Given the description of an element on the screen output the (x, y) to click on. 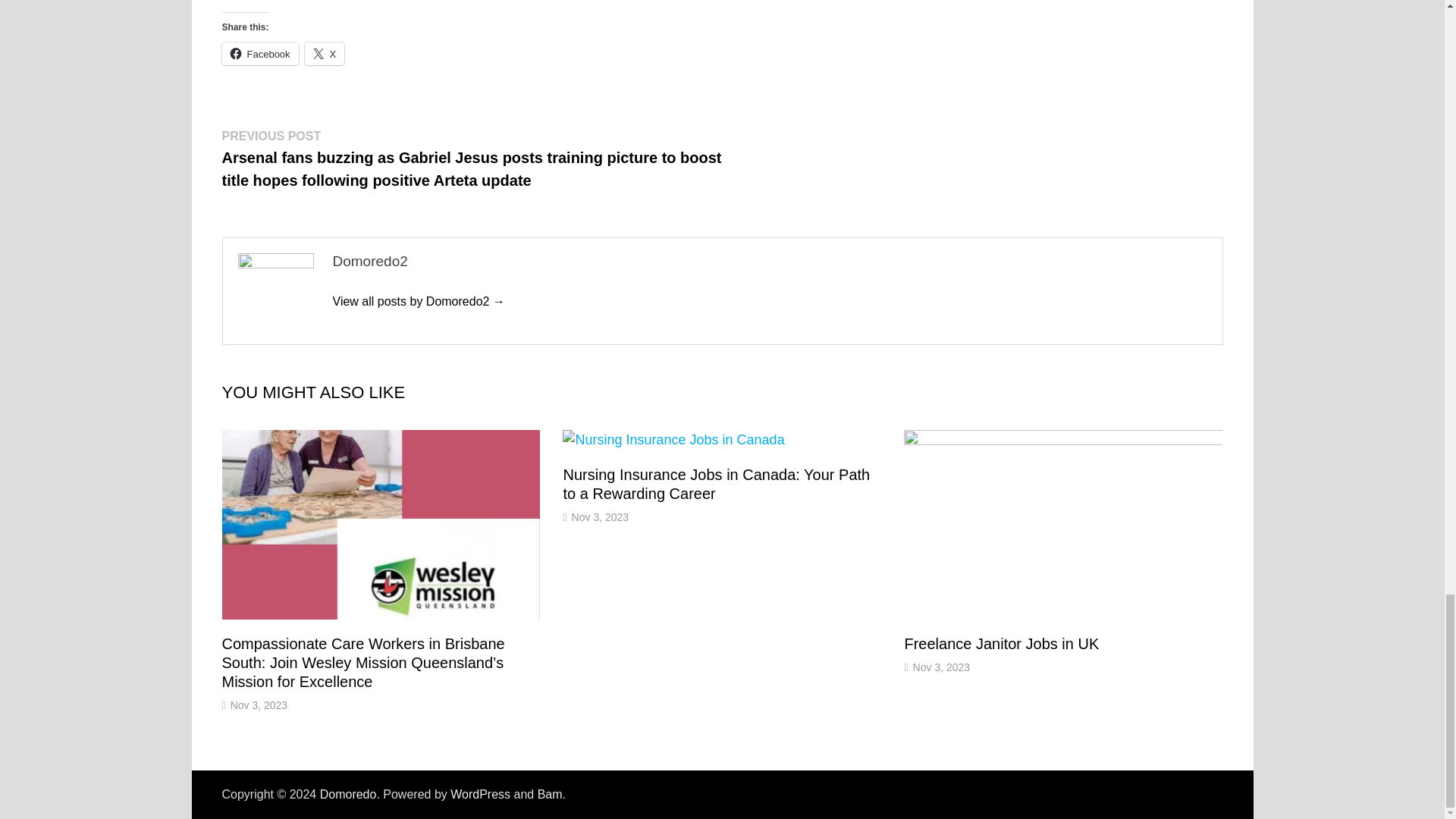
Freelance Janitor Jobs in UK (1001, 643)
Facebook (259, 53)
X (324, 53)
Click to share on X (324, 53)
Domoredo (348, 793)
Click to share on Facebook (259, 53)
Domoredo2 (417, 300)
